Given the description of an element on the screen output the (x, y) to click on. 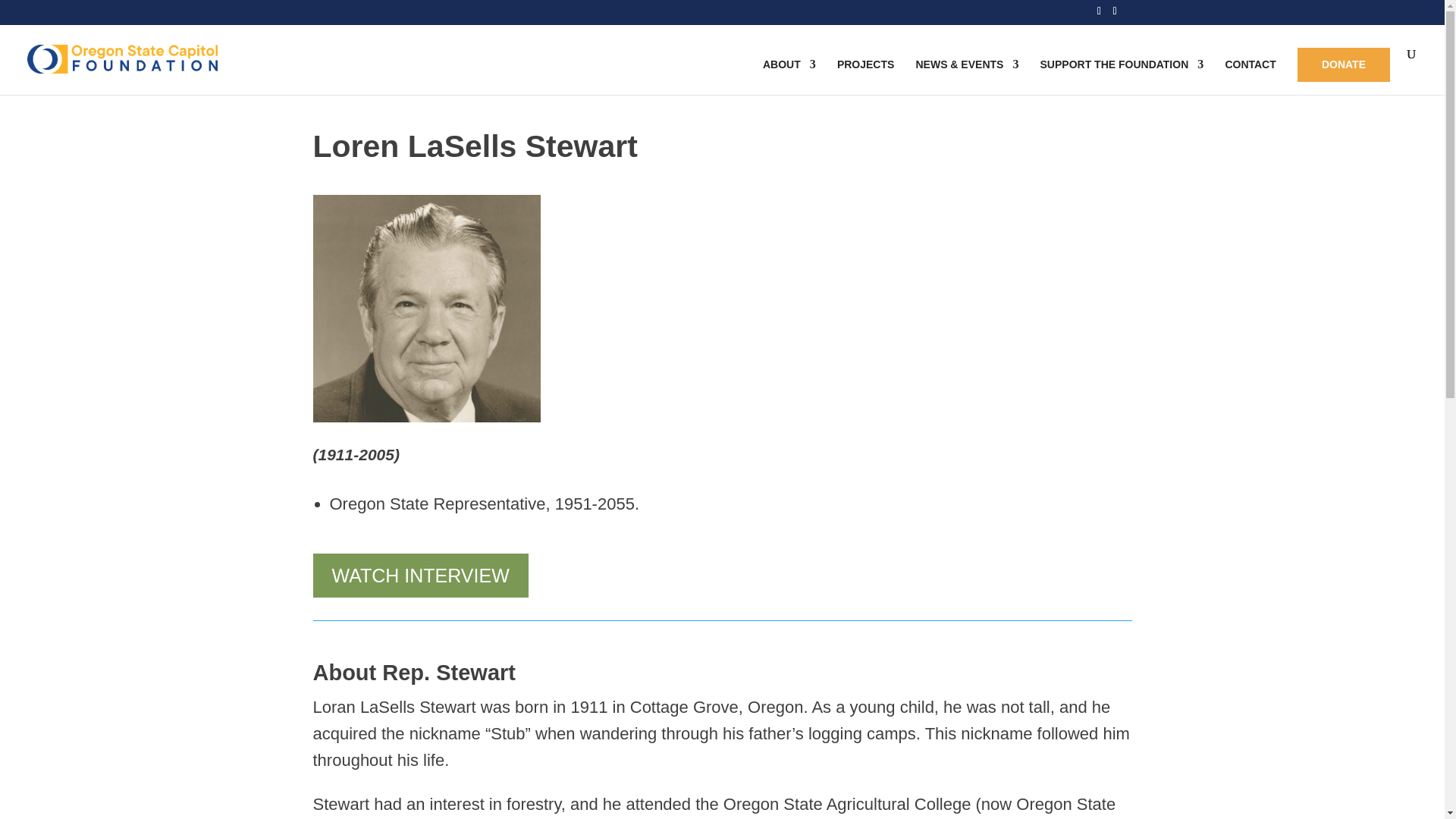
PROJECTS (865, 78)
CONTACT (1249, 78)
DONATE (1343, 66)
STEWART,-LORAN-L-300x300 (426, 320)
SUPPORT THE FOUNDATION (1122, 78)
ABOUT (788, 78)
WATCH INTERVIEW (420, 587)
